Given the description of an element on the screen output the (x, y) to click on. 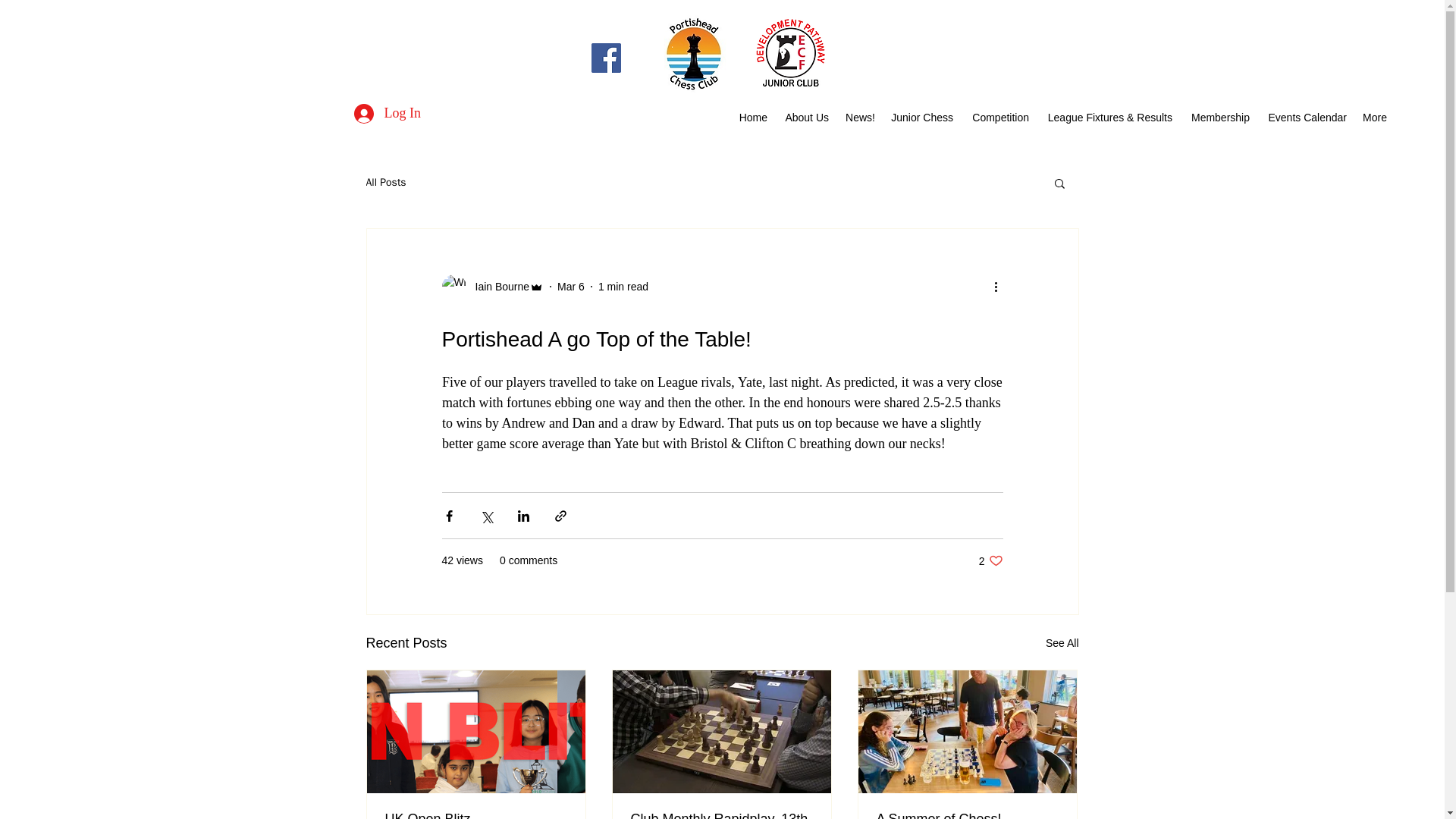
Junior Chess (921, 117)
Competition (998, 117)
Club Monthly Rapidplay, 13th September! (721, 815)
All Posts (385, 182)
Events Calendar (1305, 117)
1 min read (622, 286)
Membership (1218, 117)
Log In (386, 113)
Iain Bourne (990, 560)
